Given the description of an element on the screen output the (x, y) to click on. 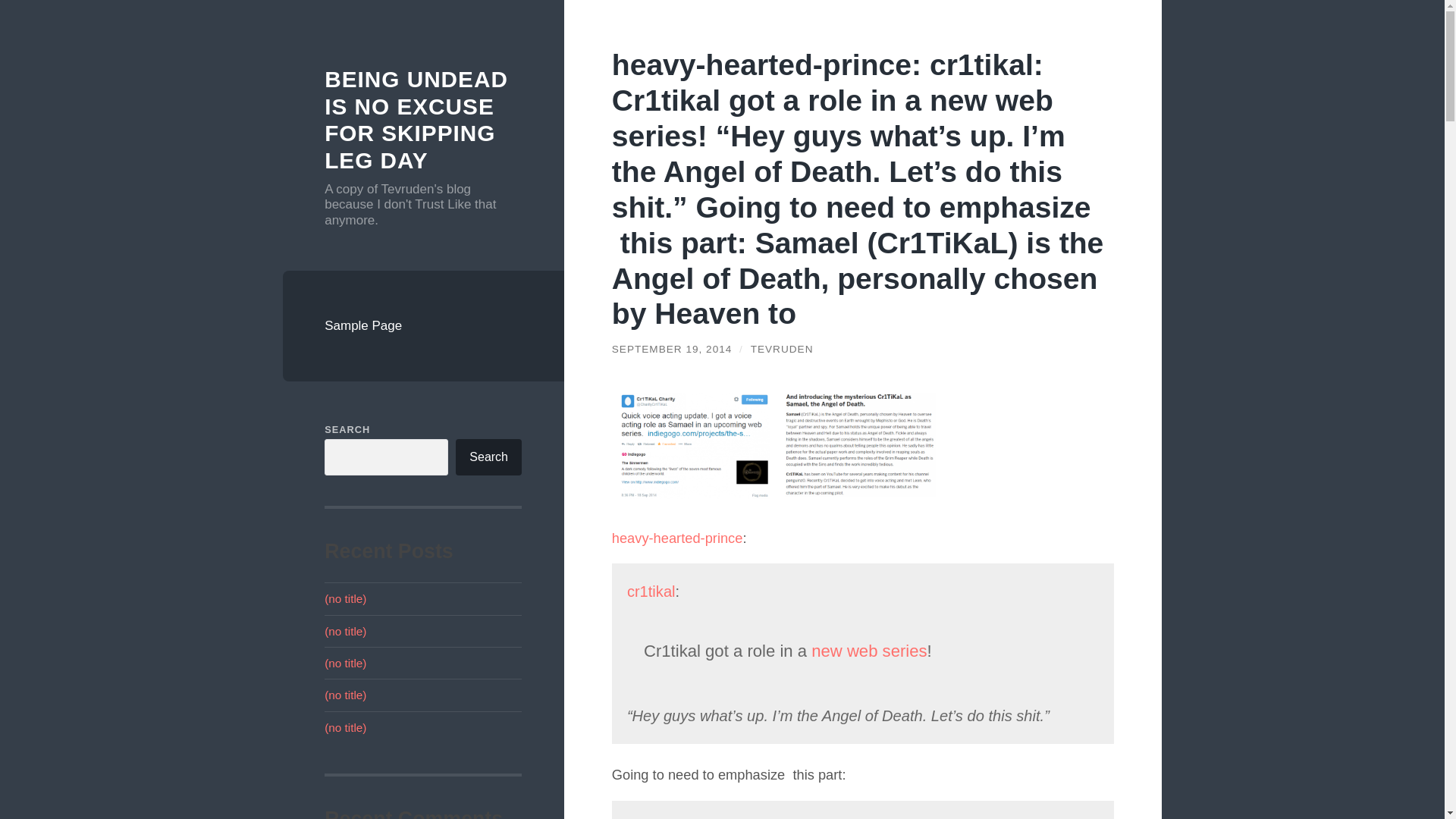
Posts by tevruden (782, 348)
BEING UNDEAD IS NO EXCUSE FOR SKIPPING LEG DAY (416, 119)
Sample Page (422, 325)
Search (488, 456)
